Given the description of an element on the screen output the (x, y) to click on. 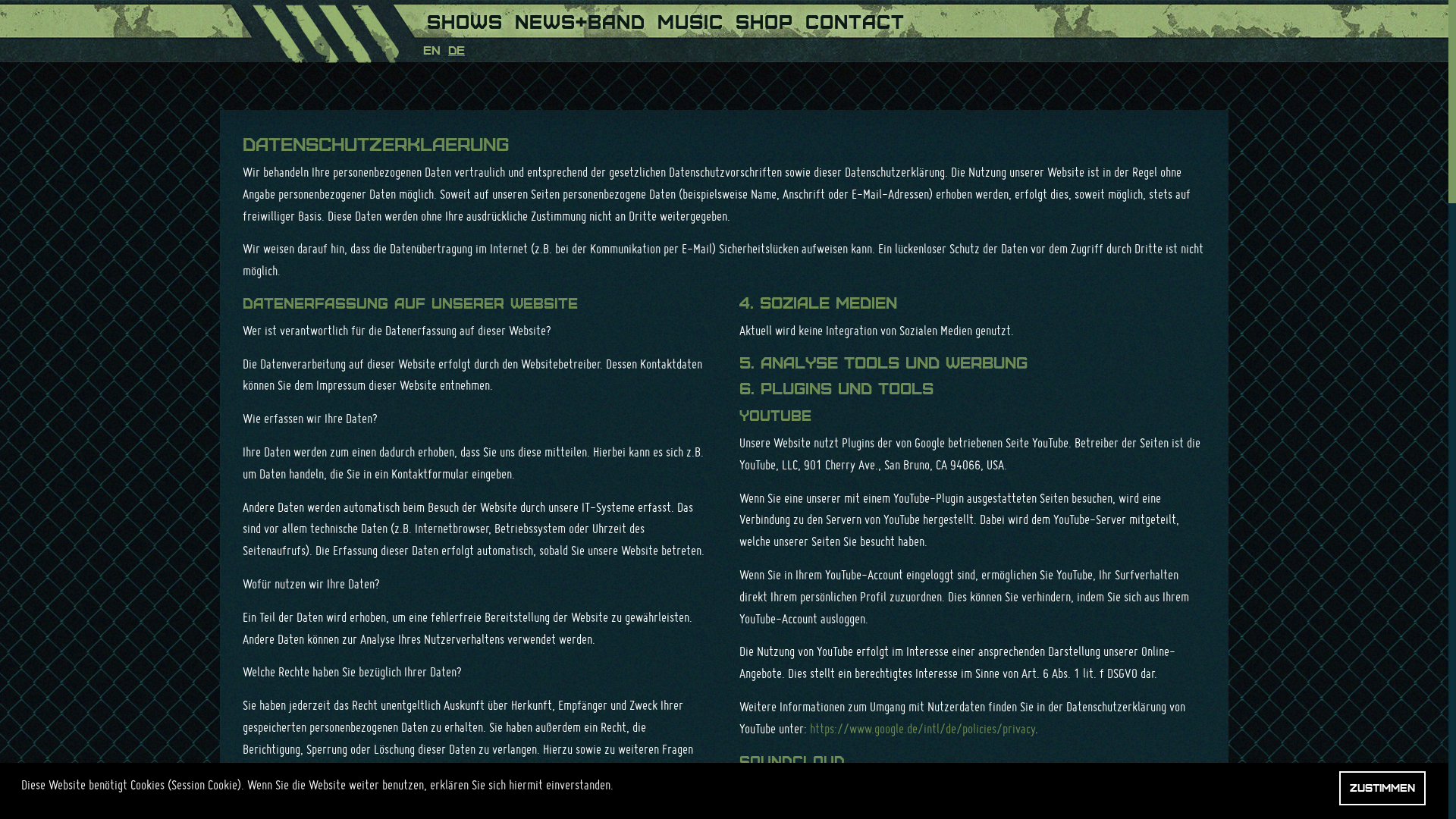
MUSIC Element type: text (690, 18)
SHOP Element type: text (764, 18)
CONTACT Element type: text (854, 18)
EN Element type: text (431, 50)
Zustimmen Element type: text (1382, 788)
DE Element type: text (456, 50)
https://www.google.de/intl/de/policies/privacy Element type: text (922, 728)
SHOWS Element type: text (464, 18)
NEWS+BAND Element type: text (579, 18)
